Given the description of an element on the screen output the (x, y) to click on. 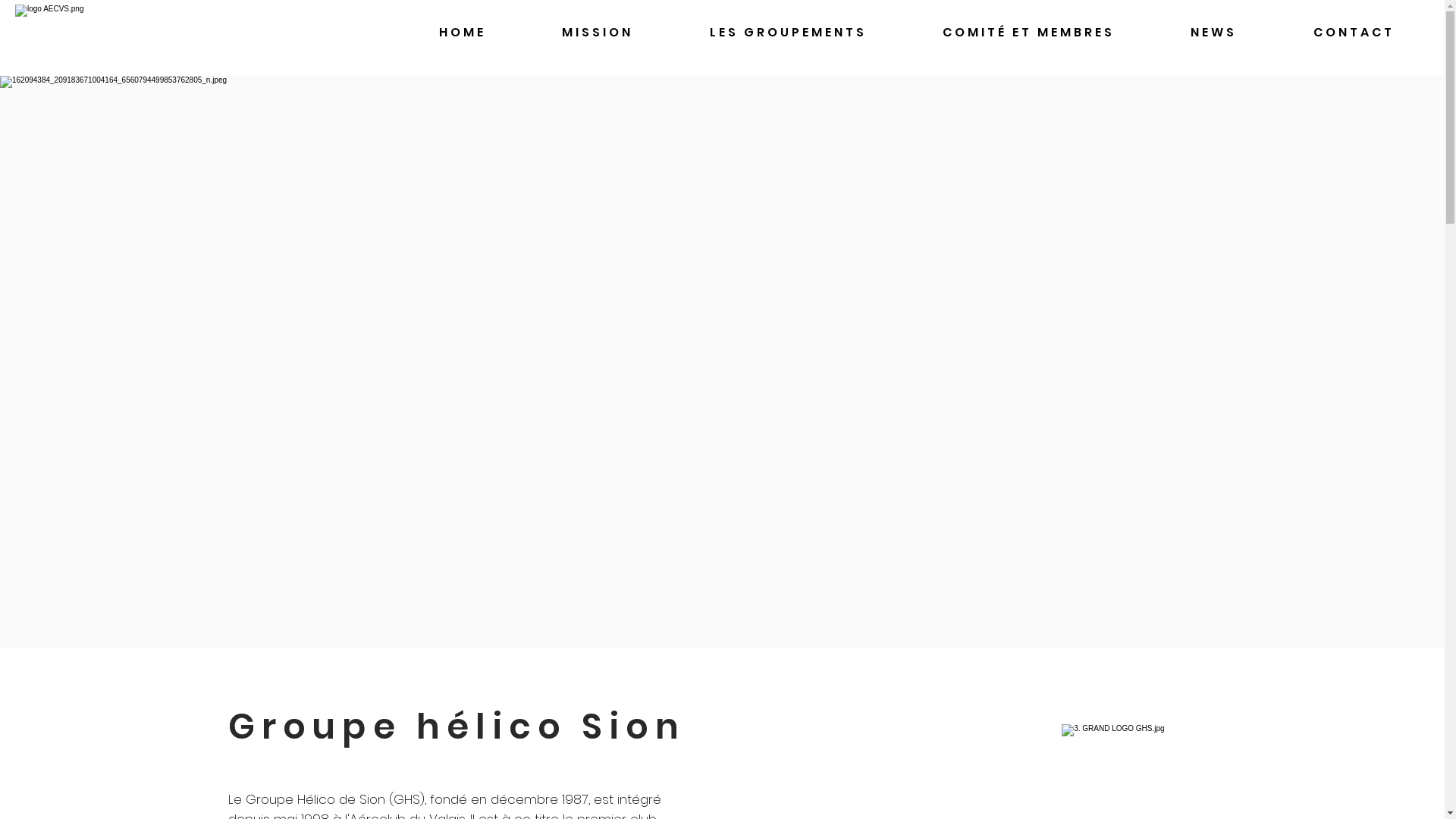
CONTACT Element type: text (1353, 32)
MISSION Element type: text (597, 32)
LES GROUPEMENTS Element type: text (787, 32)
HOME Element type: text (462, 32)
NEWS Element type: text (1213, 32)
